Given the description of an element on the screen output the (x, y) to click on. 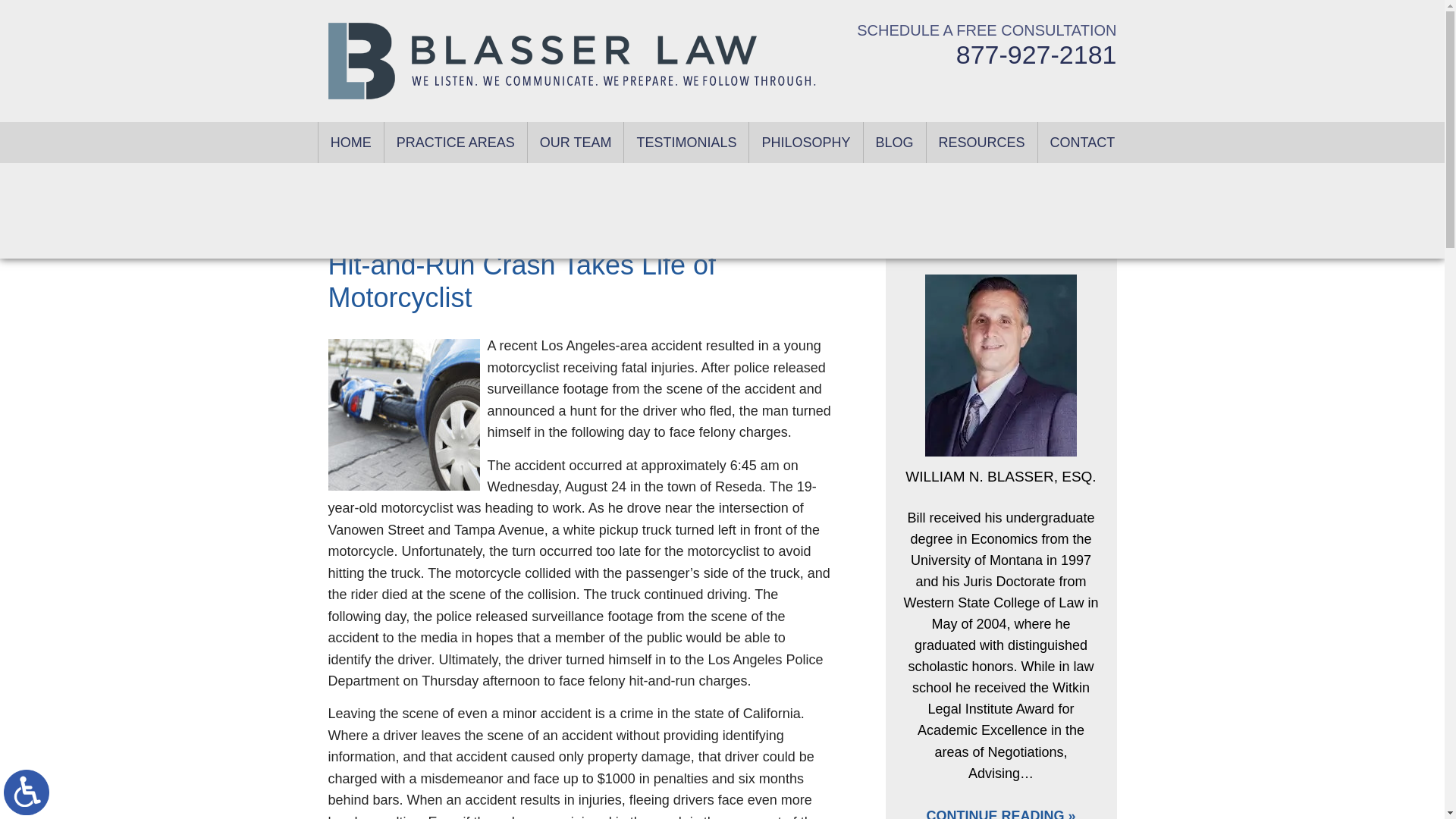
Switch to ADA Accessible Theme (26, 791)
MENU (662, 12)
HOME (351, 142)
VISIT (774, 12)
SEARCH (801, 12)
PRACTICE AREAS (455, 142)
EMAIL (743, 12)
CALL (711, 12)
Accident motorcycle and cars on  road (403, 414)
877-927-2181 (1036, 54)
